Given the description of an element on the screen output the (x, y) to click on. 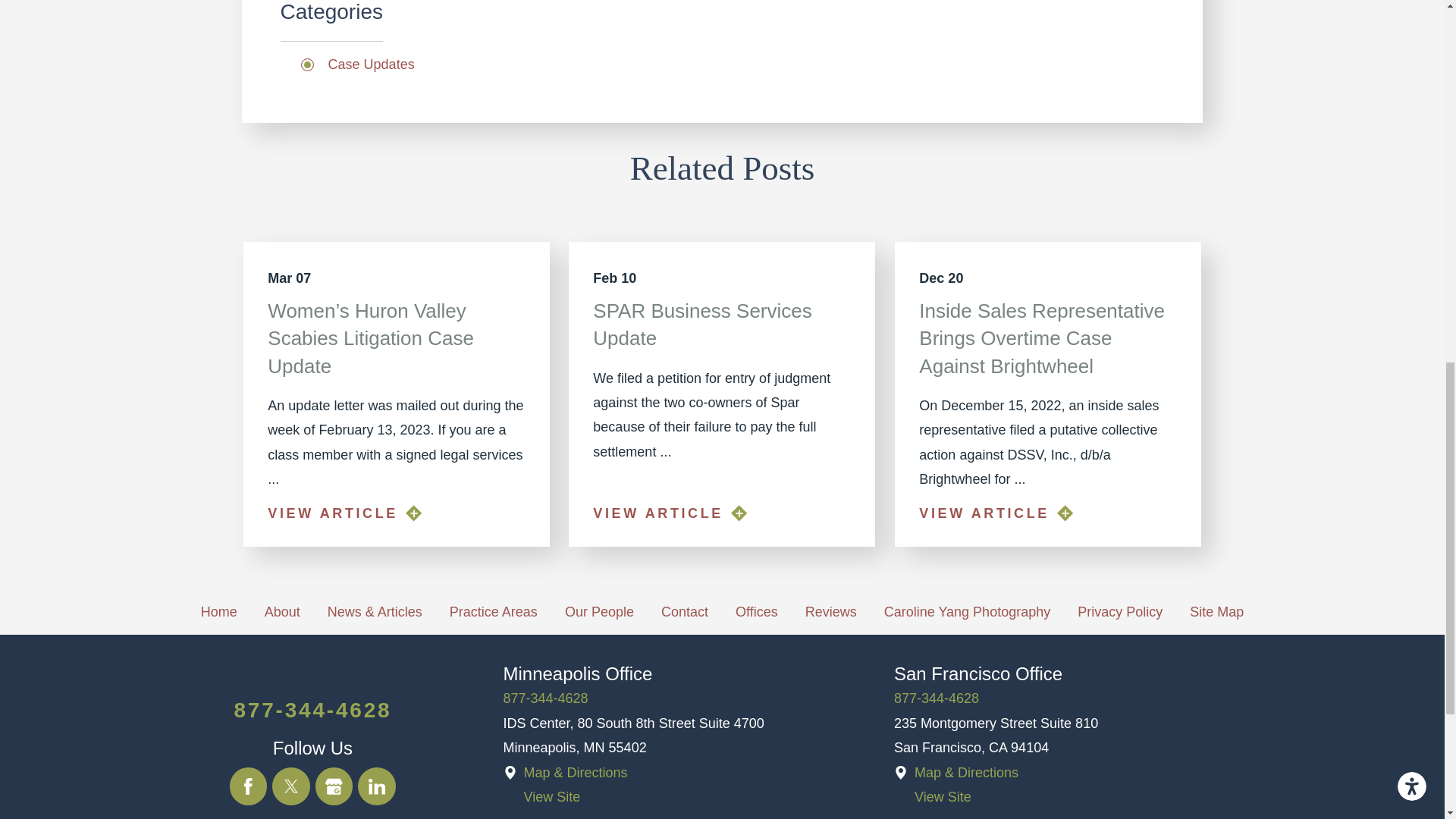
Facebook (248, 786)
Google Business Profile (334, 786)
Twitter (291, 786)
